Given the description of an element on the screen output the (x, y) to click on. 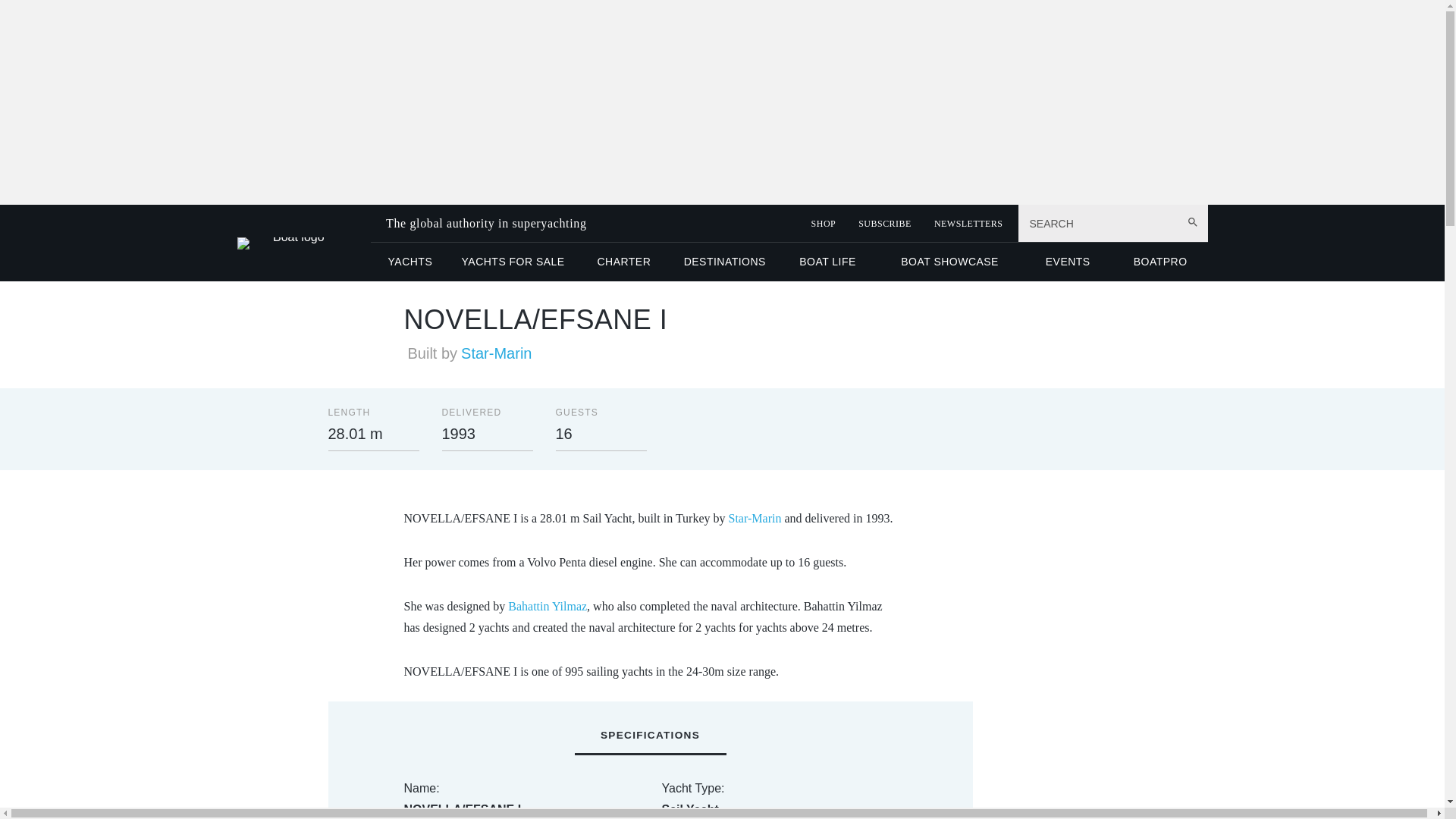
YACHTS (410, 261)
SUBSCRIBE (885, 223)
DESTINATIONS (724, 261)
CHARTER (623, 261)
NEWSLETTERS (968, 223)
YACHTS FOR SALE (512, 261)
SHOP (822, 223)
